Given the description of an element on the screen output the (x, y) to click on. 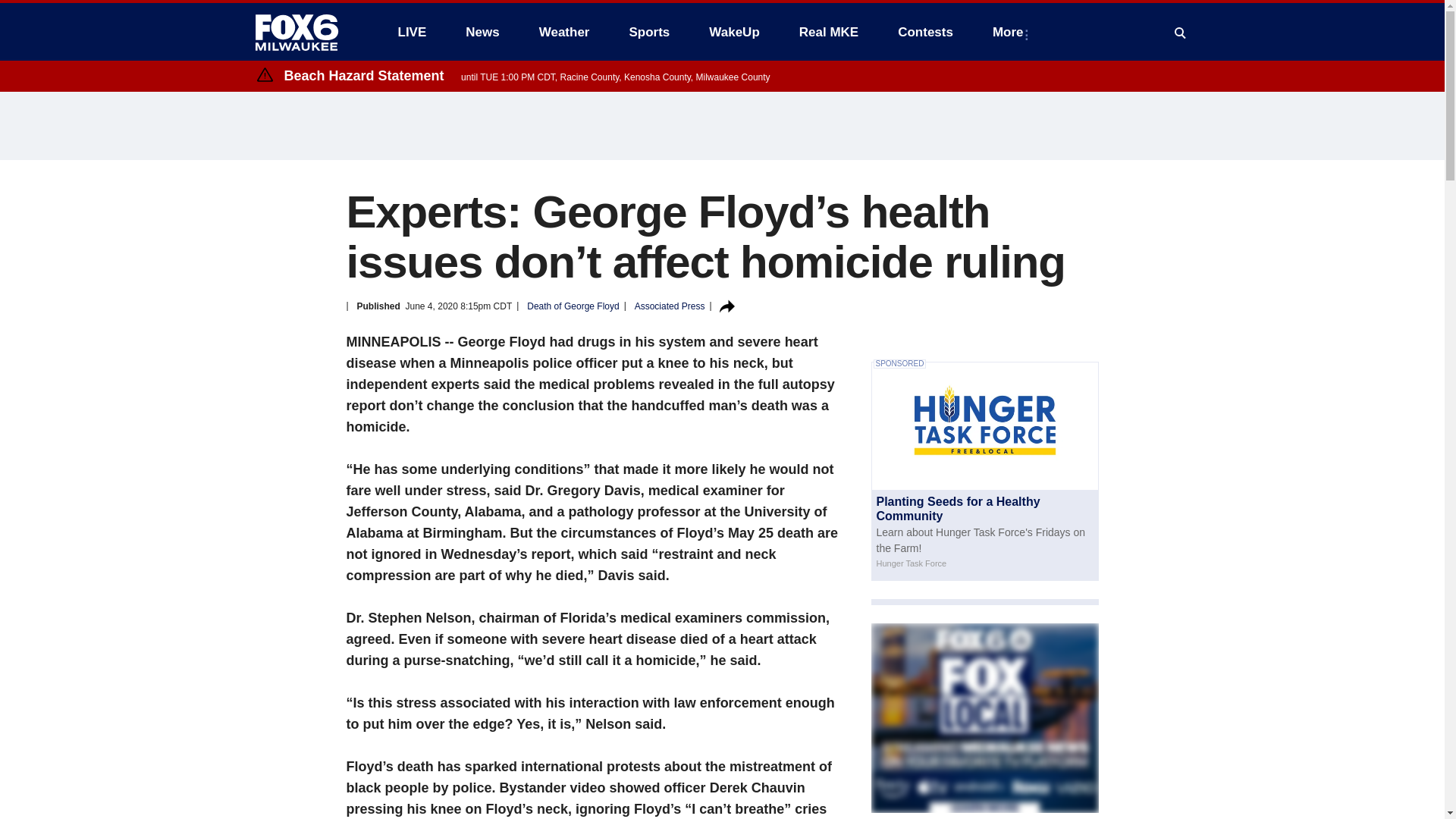
News (481, 32)
LIVE (411, 32)
WakeUp (734, 32)
Real MKE (828, 32)
More (1010, 32)
Contests (925, 32)
Weather (564, 32)
Sports (648, 32)
